Given the description of an element on the screen output the (x, y) to click on. 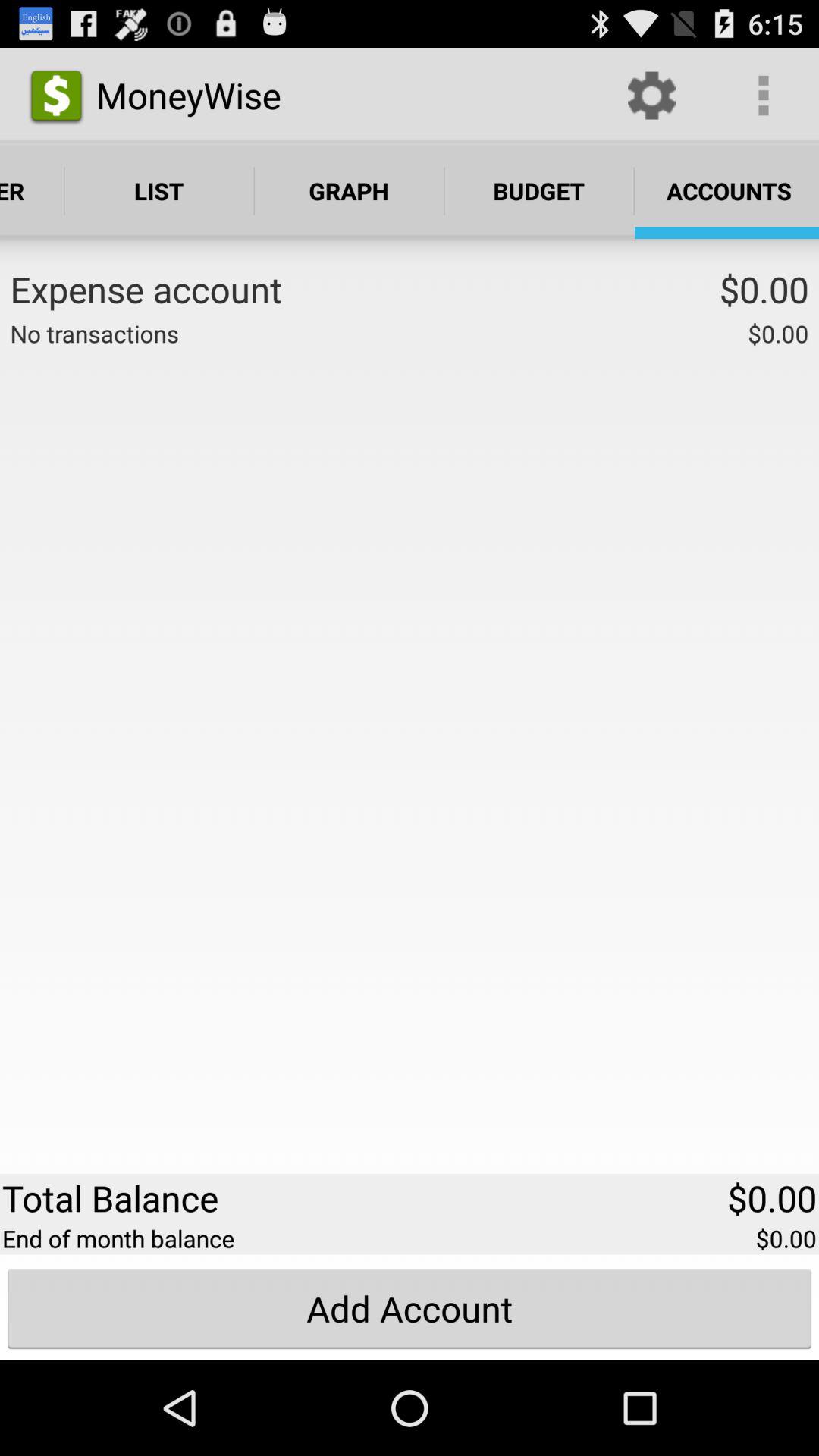
turn on the app next to the no transactions item (463, 331)
